Given the description of an element on the screen output the (x, y) to click on. 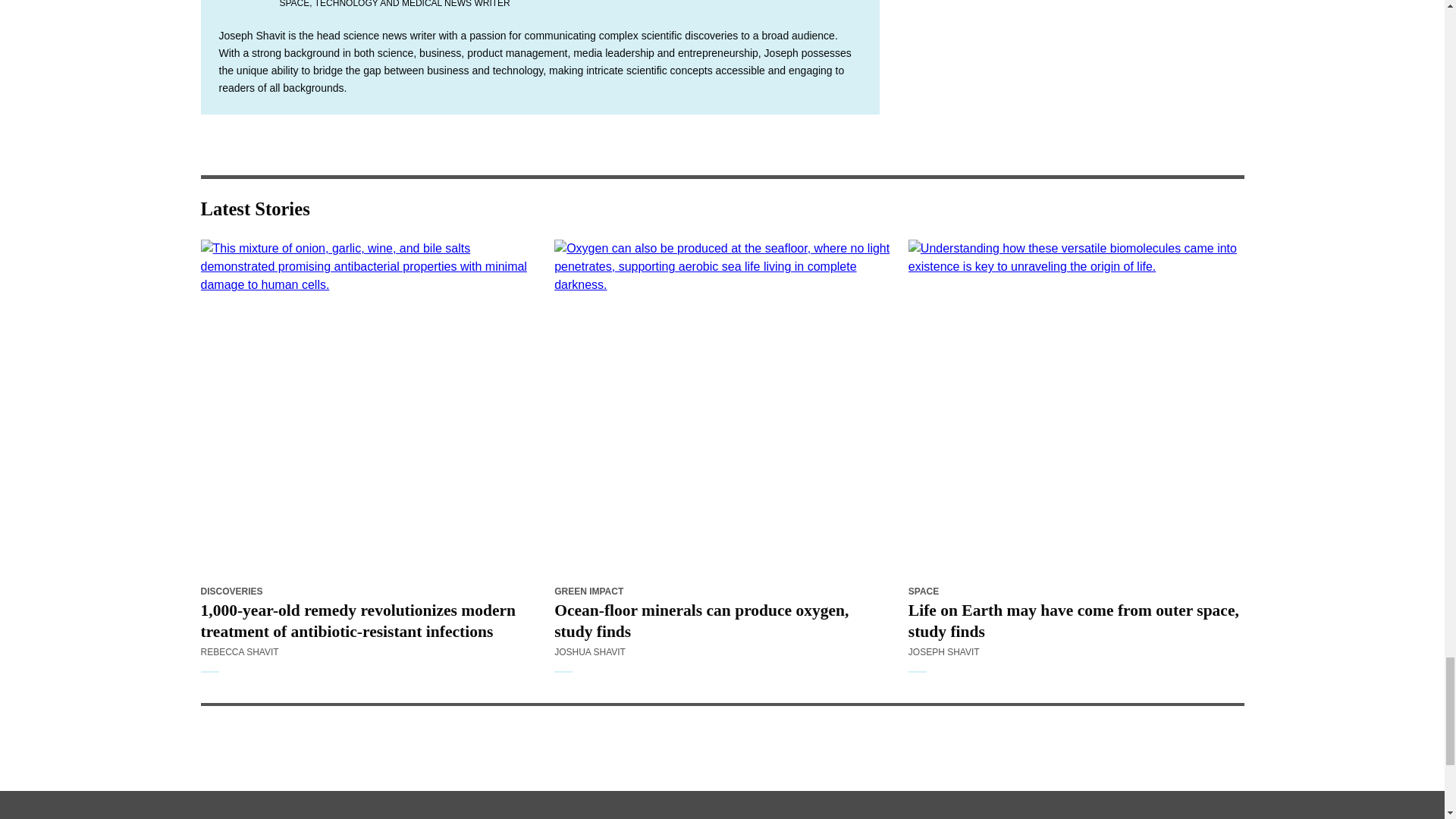
Life on Earth may have come from outer space, study finds (1076, 407)
REBECCA SHAVIT (239, 652)
Ocean-floor minerals can produce oxygen, study finds (721, 407)
DISCOVERIES (231, 591)
